Given the description of an element on the screen output the (x, y) to click on. 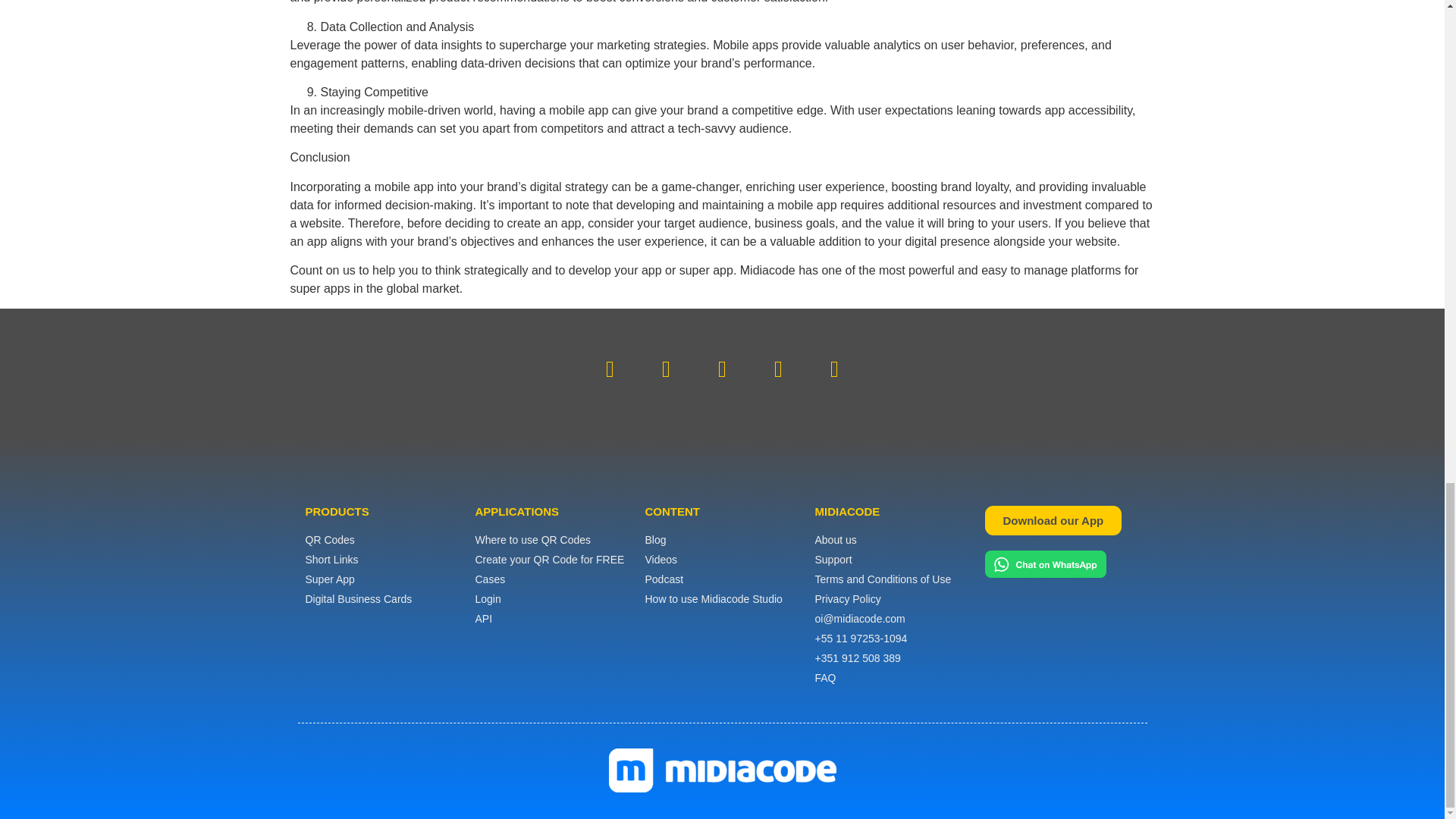
APPLICATIONS (516, 511)
Super App (382, 579)
QR Codes (382, 539)
Create your QR Code for FREE (551, 560)
Digital Business Cards (382, 599)
Where to use QR Codes (551, 539)
PRODUCTS (336, 511)
Short Links (382, 560)
